Given the description of an element on the screen output the (x, y) to click on. 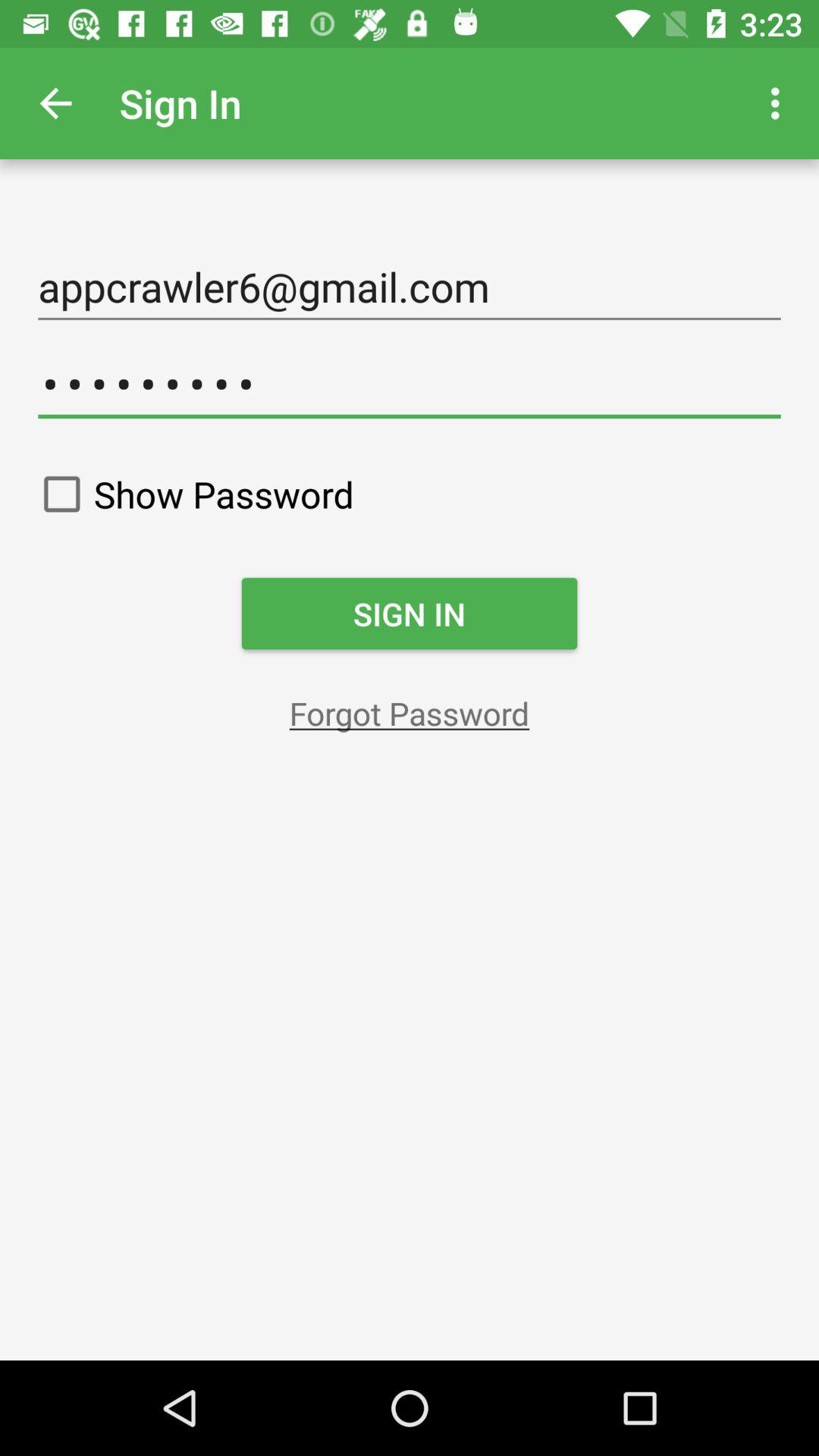
open icon above the show password (409, 383)
